Given the description of an element on the screen output the (x, y) to click on. 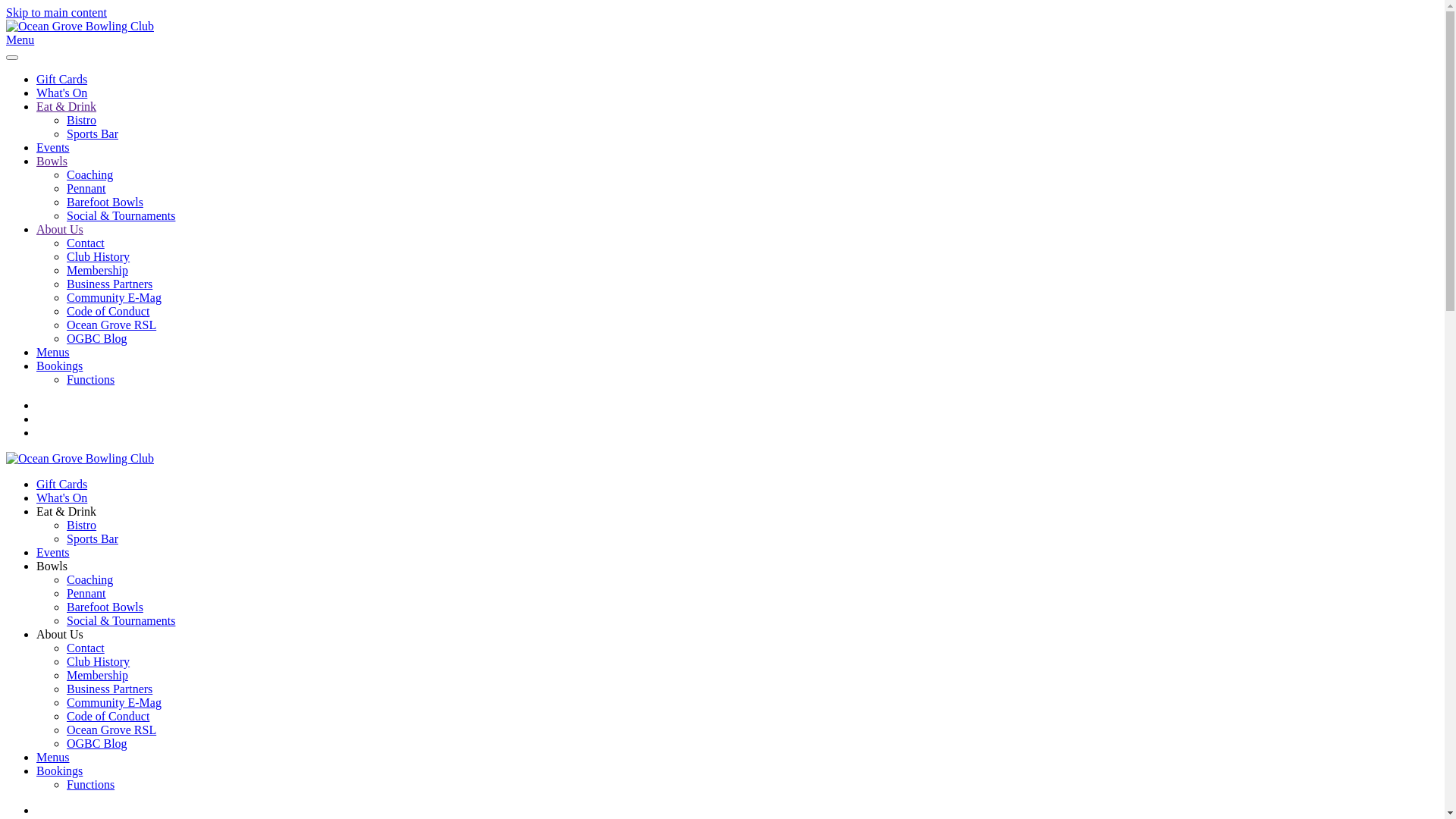
Ocean Grove RSL Element type: text (111, 729)
Bowls Element type: text (51, 160)
Social & Tournaments Element type: text (120, 620)
Coaching Element type: text (89, 579)
Code of Conduct Element type: text (107, 715)
What's On Element type: text (61, 92)
Barefoot Bowls Element type: text (104, 201)
Coaching Element type: text (89, 174)
Events Element type: text (52, 552)
Bistro Element type: text (81, 524)
Community E-Mag Element type: text (113, 702)
Gift Cards Element type: text (61, 483)
Bookings Element type: text (59, 770)
Eat & Drink Element type: text (66, 511)
About Us Element type: text (59, 633)
Bistro Element type: text (81, 119)
Club History Element type: text (97, 661)
Contact Element type: text (85, 647)
Social & Tournaments Element type: text (120, 215)
Membership Element type: text (97, 674)
Events Element type: text (52, 147)
Membership Element type: text (97, 269)
Sports Bar Element type: text (92, 538)
OGBC Blog Element type: text (96, 743)
Sports Bar Element type: text (92, 133)
Contact Element type: text (85, 242)
Menu Element type: text (722, 40)
Menus Element type: text (52, 756)
Business Partners Element type: text (109, 688)
What's On Element type: text (61, 497)
Pennant Element type: text (86, 592)
Club History Element type: text (97, 256)
Menus Element type: text (52, 351)
Ocean Grove RSL Element type: text (111, 324)
Community E-Mag Element type: text (113, 297)
Eat & Drink Element type: text (66, 106)
Code of Conduct Element type: text (107, 310)
Bookings Element type: text (59, 365)
Pennant Element type: text (86, 188)
Functions Element type: text (90, 784)
About Us Element type: text (59, 228)
Barefoot Bowls Element type: text (104, 606)
Bowls Element type: text (51, 565)
OGBC Blog Element type: text (96, 338)
Functions Element type: text (90, 379)
Skip to main content Element type: text (56, 12)
Gift Cards Element type: text (61, 78)
Business Partners Element type: text (109, 283)
